Given the description of an element on the screen output the (x, y) to click on. 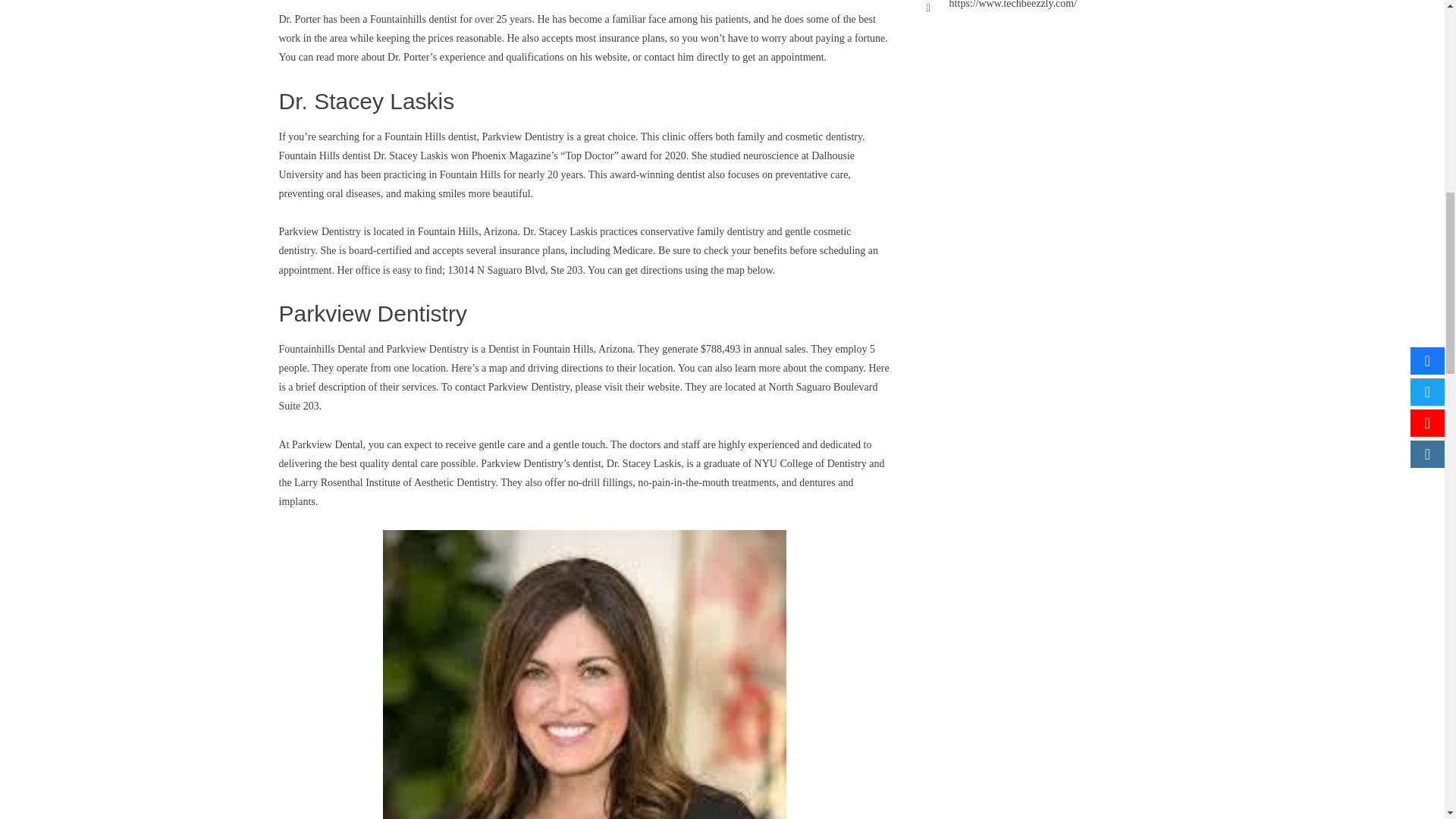
Fountainhills dentist (413, 19)
